Given the description of an element on the screen output the (x, y) to click on. 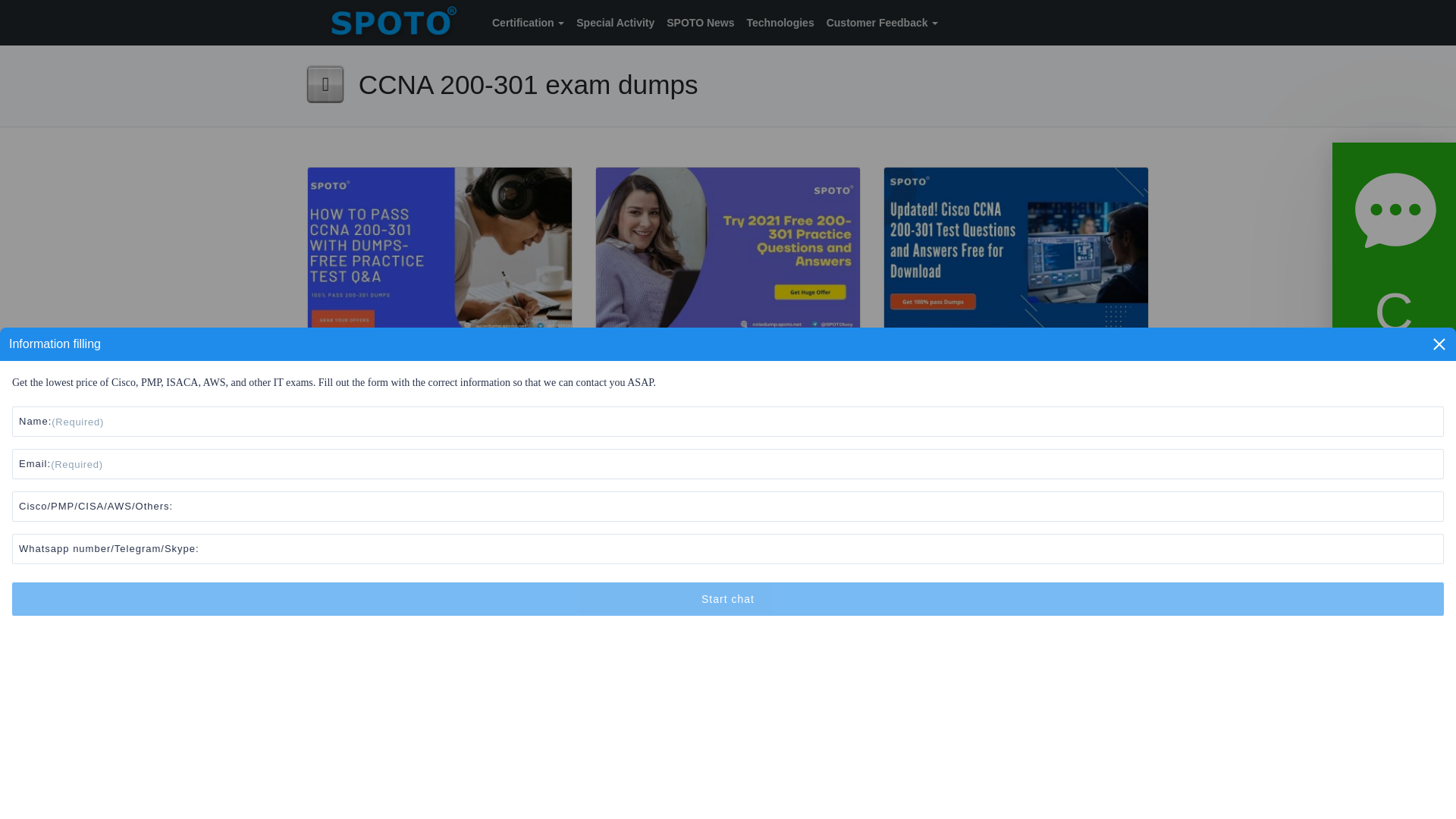
0 (345, 522)
Try Free Cisco CCNA 200-301 Test questions and answers (425, 803)
SPOTO Club (684, 564)
What Is the Difference Between IPv4 and IPv6? (727, 683)
Certification (528, 22)
Read (675, 522)
SPOTO Club (396, 564)
0 (921, 522)
Try 2024 Free 200-301 Practice Questions and Answers (727, 255)
